Given the description of an element on the screen output the (x, y) to click on. 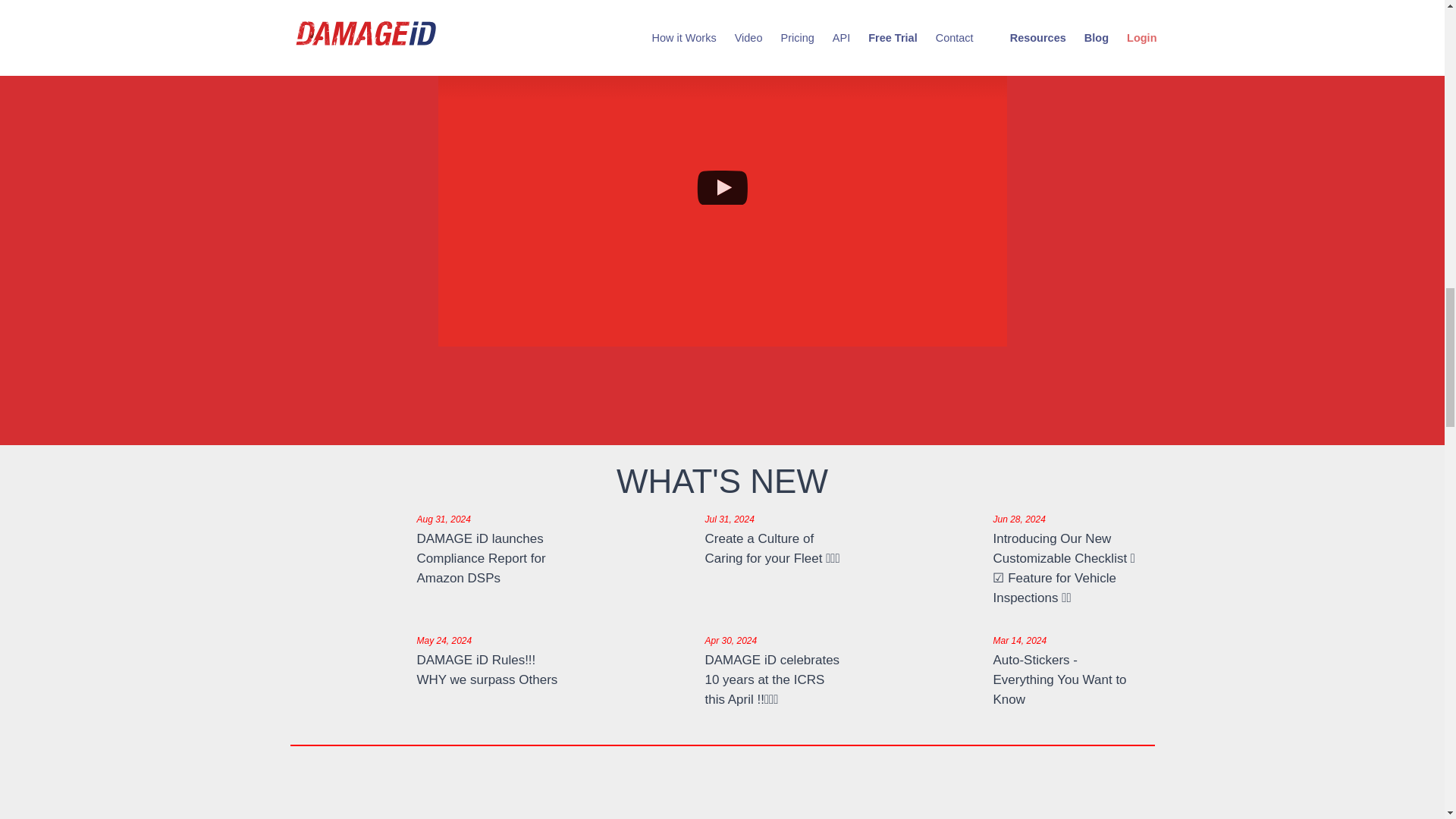
DAMAGE iD Rules!!! WHY we surpass Others (486, 669)
Auto-Stickers - Everything You Want to Know (1058, 679)
DAMAGE iD launches Compliance Report for Amazon DSPs (481, 558)
